Given the description of an element on the screen output the (x, y) to click on. 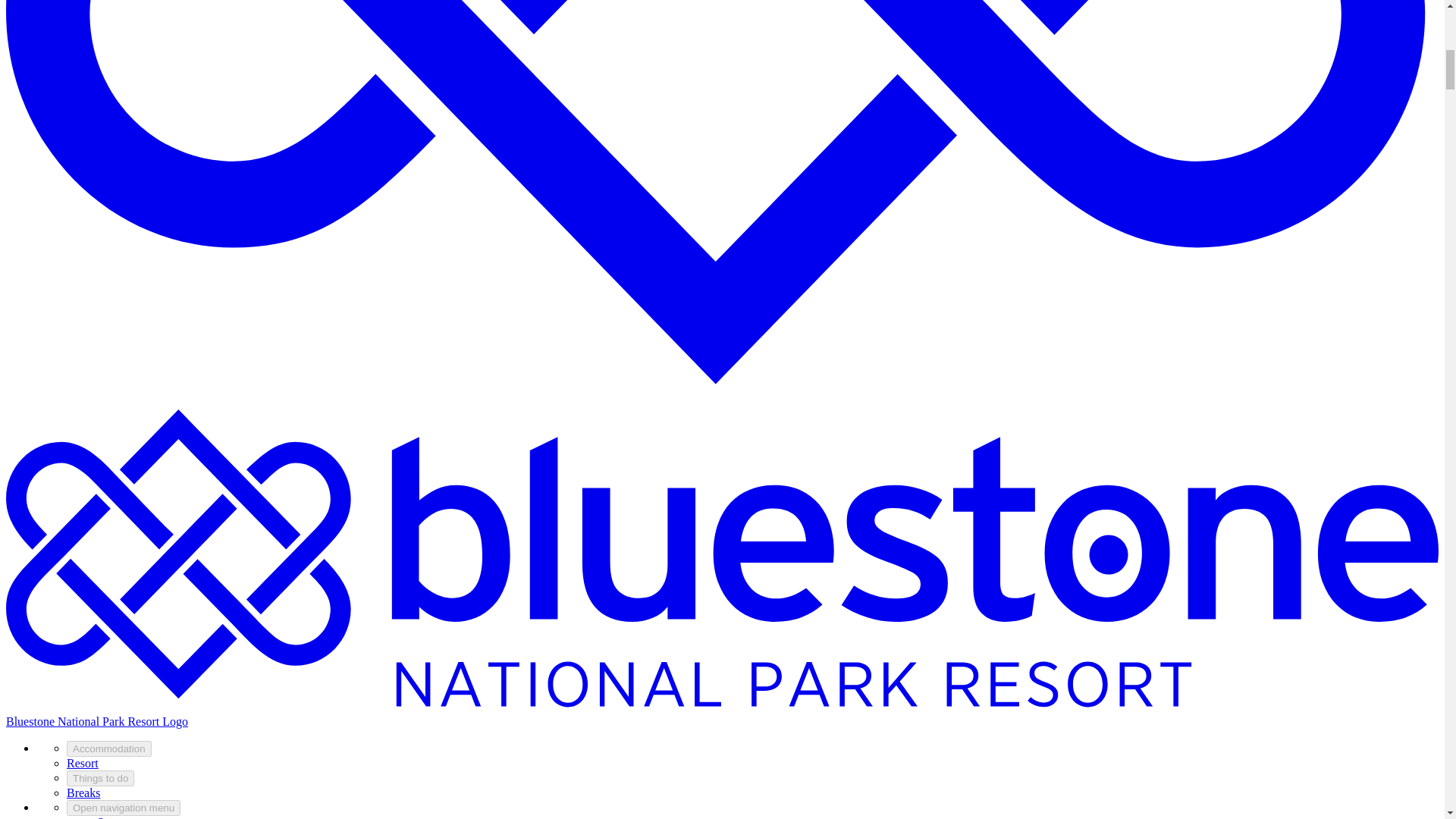
Open navigation menu (123, 807)
Breaks (83, 792)
Support (116, 817)
Resort (82, 762)
Accommodation (108, 748)
Things to do (99, 778)
